Given the description of an element on the screen output the (x, y) to click on. 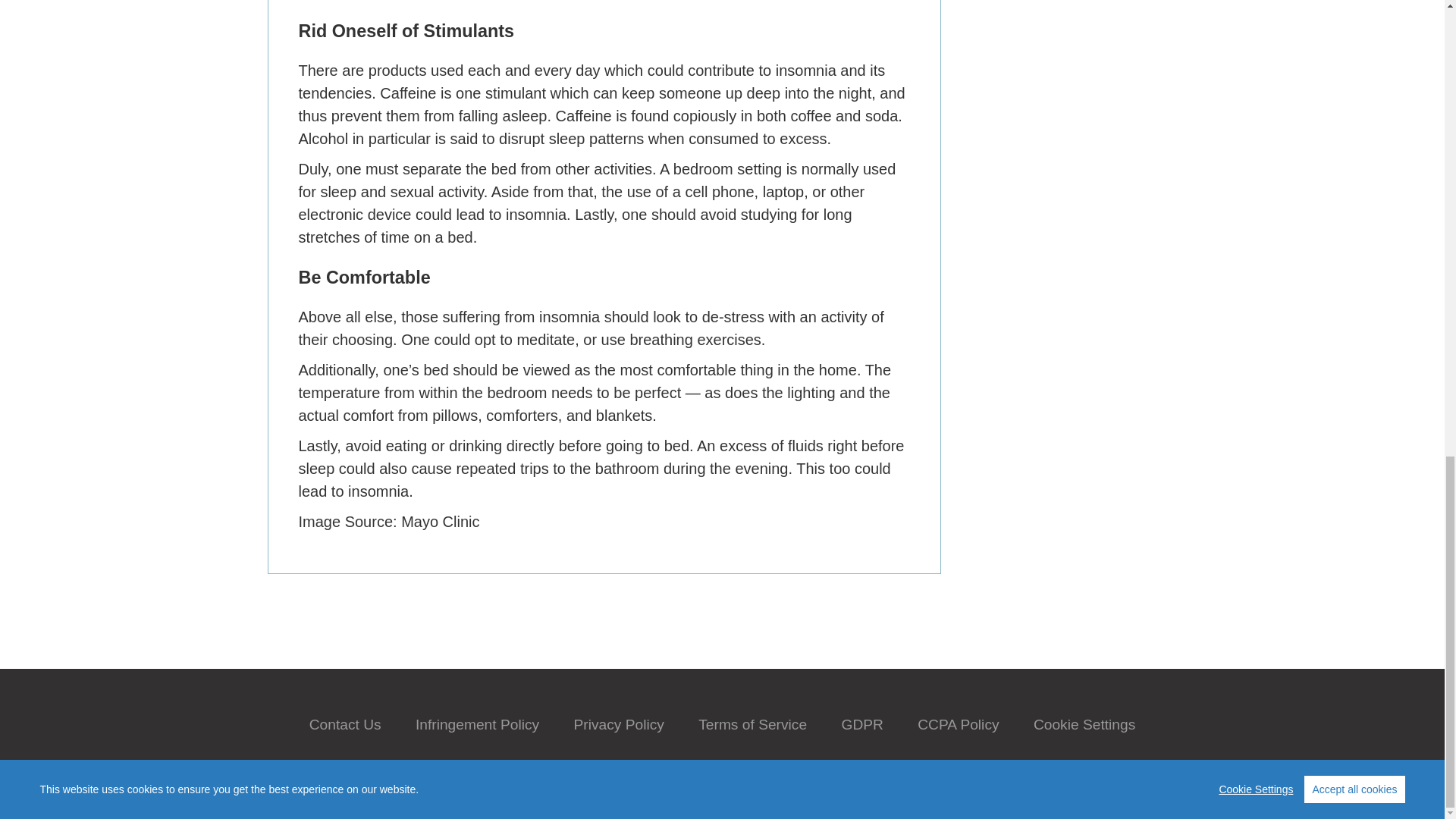
Cookie Settings (1084, 724)
Infringement Policy (476, 724)
Privacy Policy (618, 724)
Contact Us (344, 724)
GDPR (861, 724)
CCPA Policy (957, 724)
Terms of Service (752, 724)
